Given the description of an element on the screen output the (x, y) to click on. 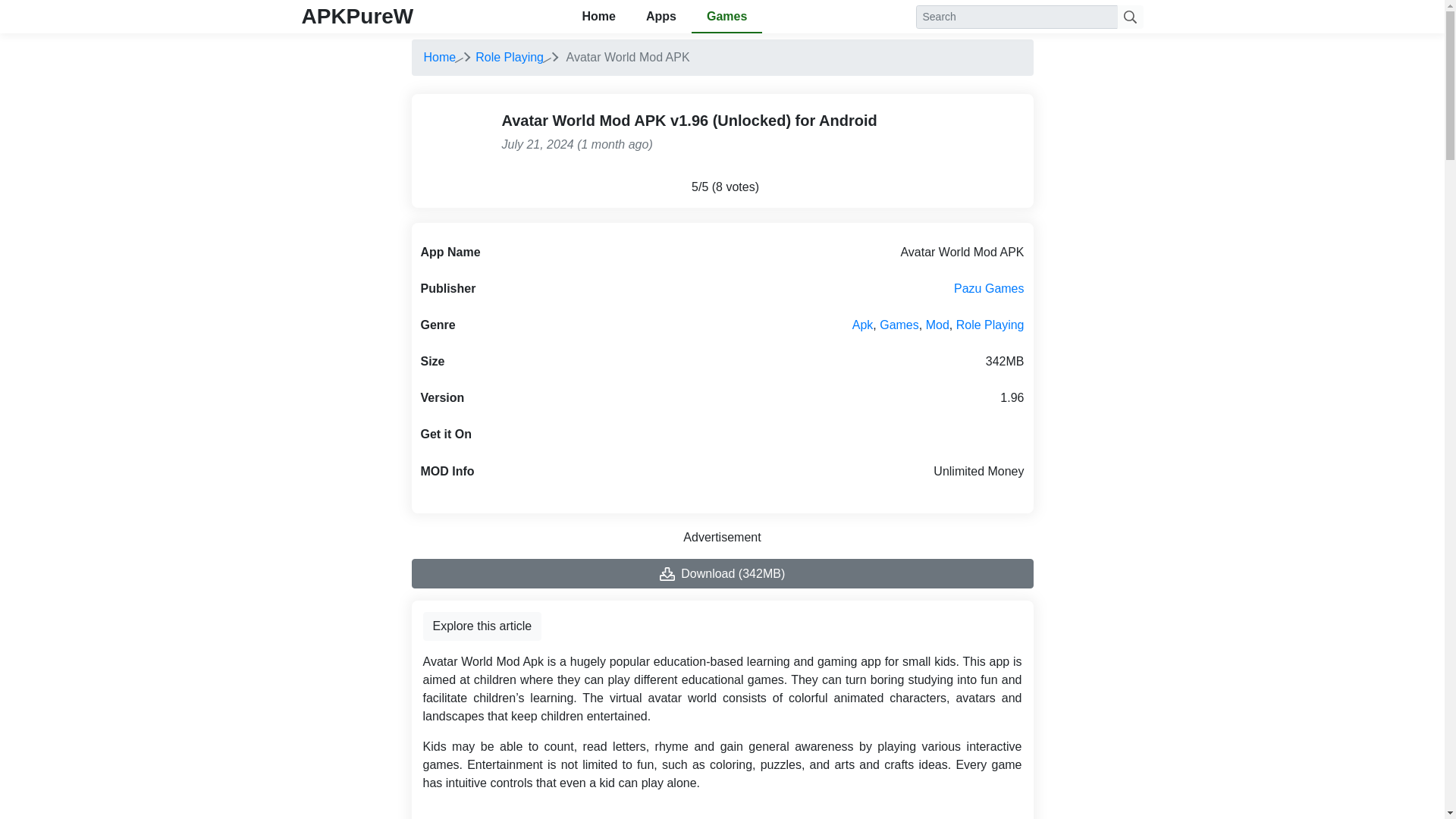
APKPureW (357, 15)
Mod (937, 324)
Games (726, 16)
Home (598, 16)
Role Playing (509, 56)
Games (898, 324)
Pazu Games (988, 287)
Home (439, 56)
Role Playing (990, 324)
